Given the description of an element on the screen output the (x, y) to click on. 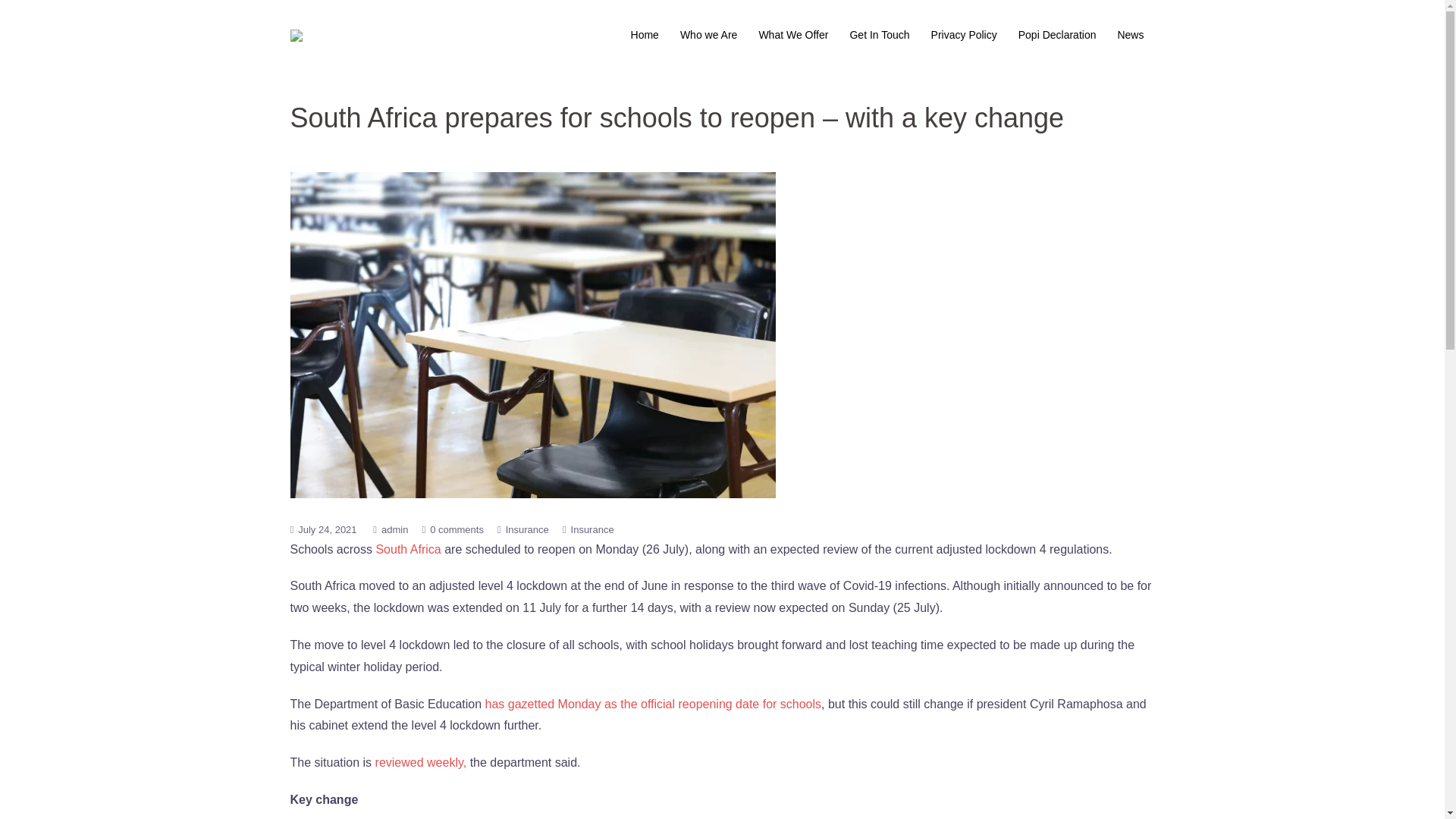
July 24, 2021 (327, 529)
reviewed weekly, (421, 762)
Who we Are (707, 35)
Get In Touch (878, 35)
0 comments (456, 529)
News (1129, 35)
Insurance (592, 529)
Privacy Policy (964, 35)
admin (394, 529)
What We Offer (793, 35)
South Africa (408, 549)
Insurance (526, 529)
Home (644, 35)
